Given the description of an element on the screen output the (x, y) to click on. 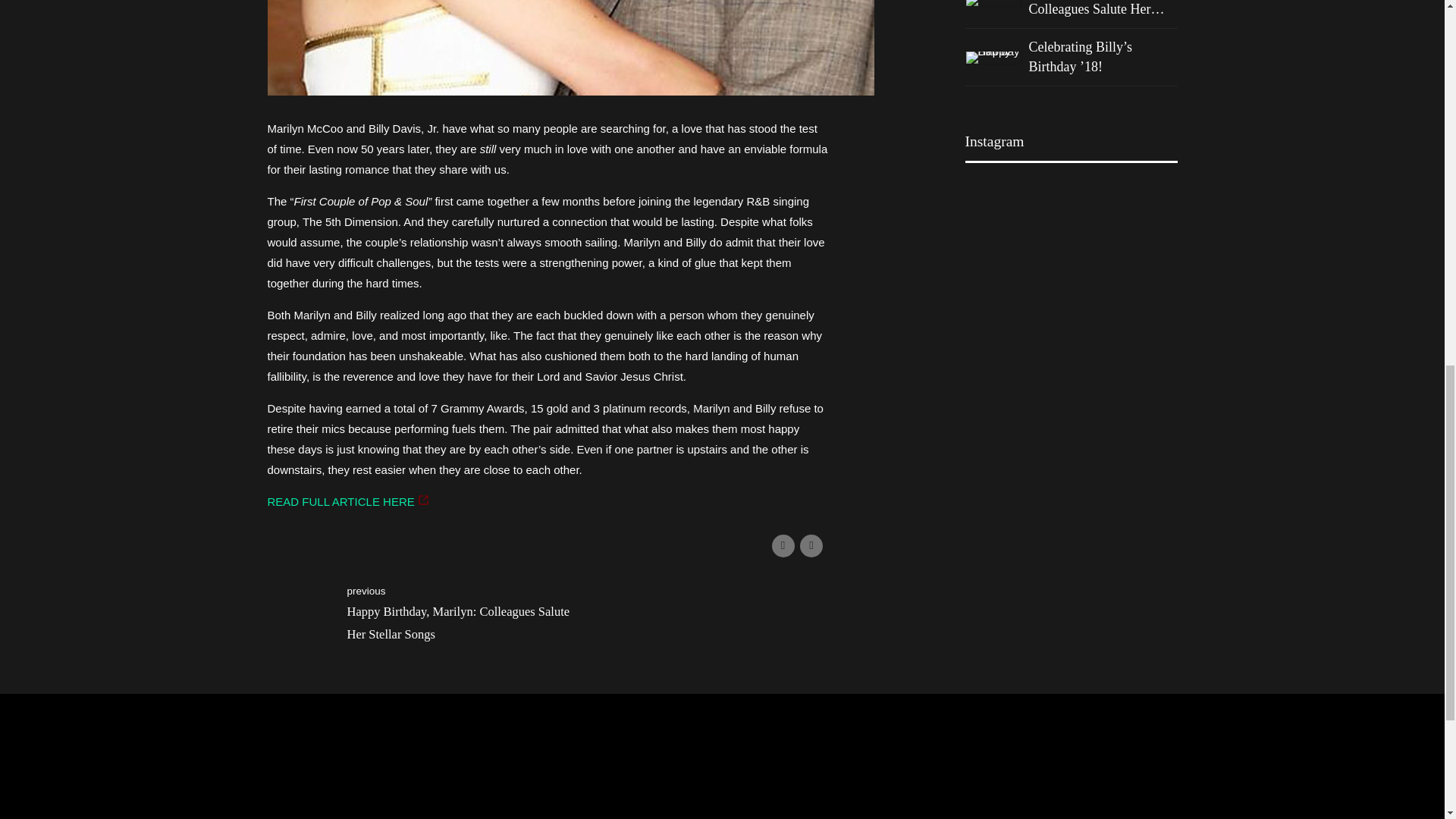
Share on Twitter (810, 545)
READ FULL ARTICLE HERE (347, 501)
Share on Facebook (782, 545)
